Given the description of an element on the screen output the (x, y) to click on. 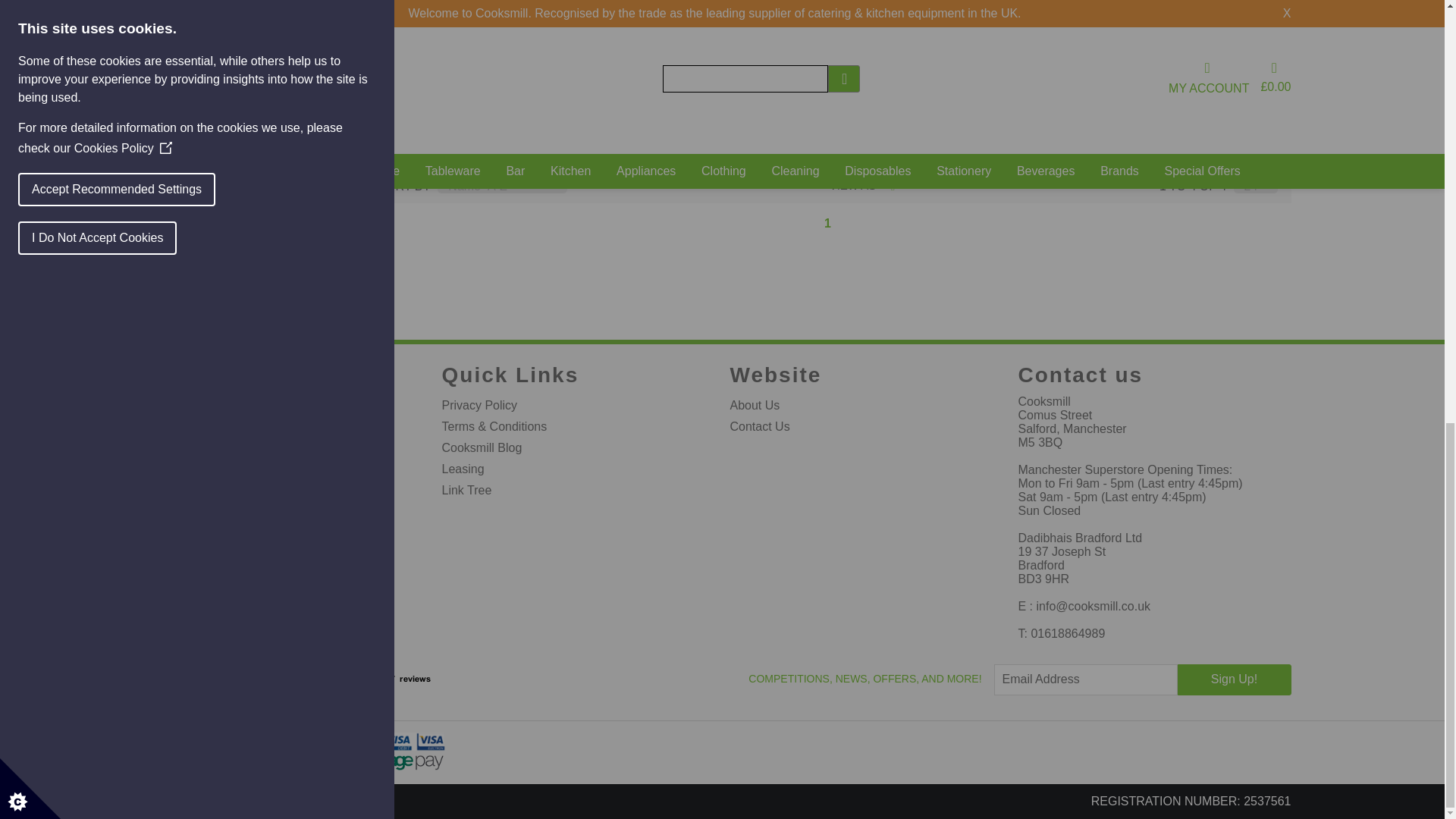
Our customer Feefo rating (397, 677)
Sort By (502, 186)
